Given the description of an element on the screen output the (x, y) to click on. 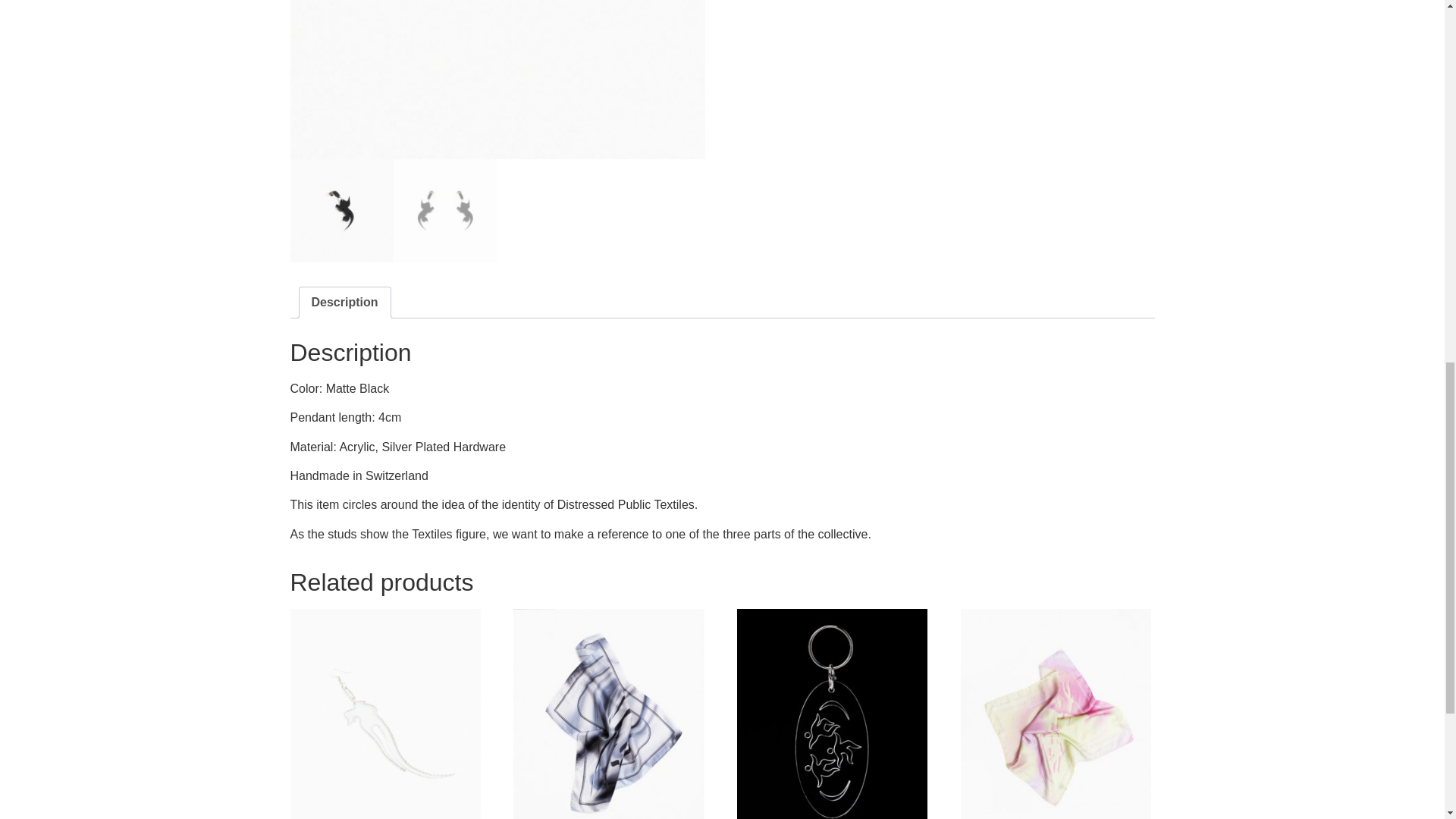
Description (344, 302)
